Given the description of an element on the screen output the (x, y) to click on. 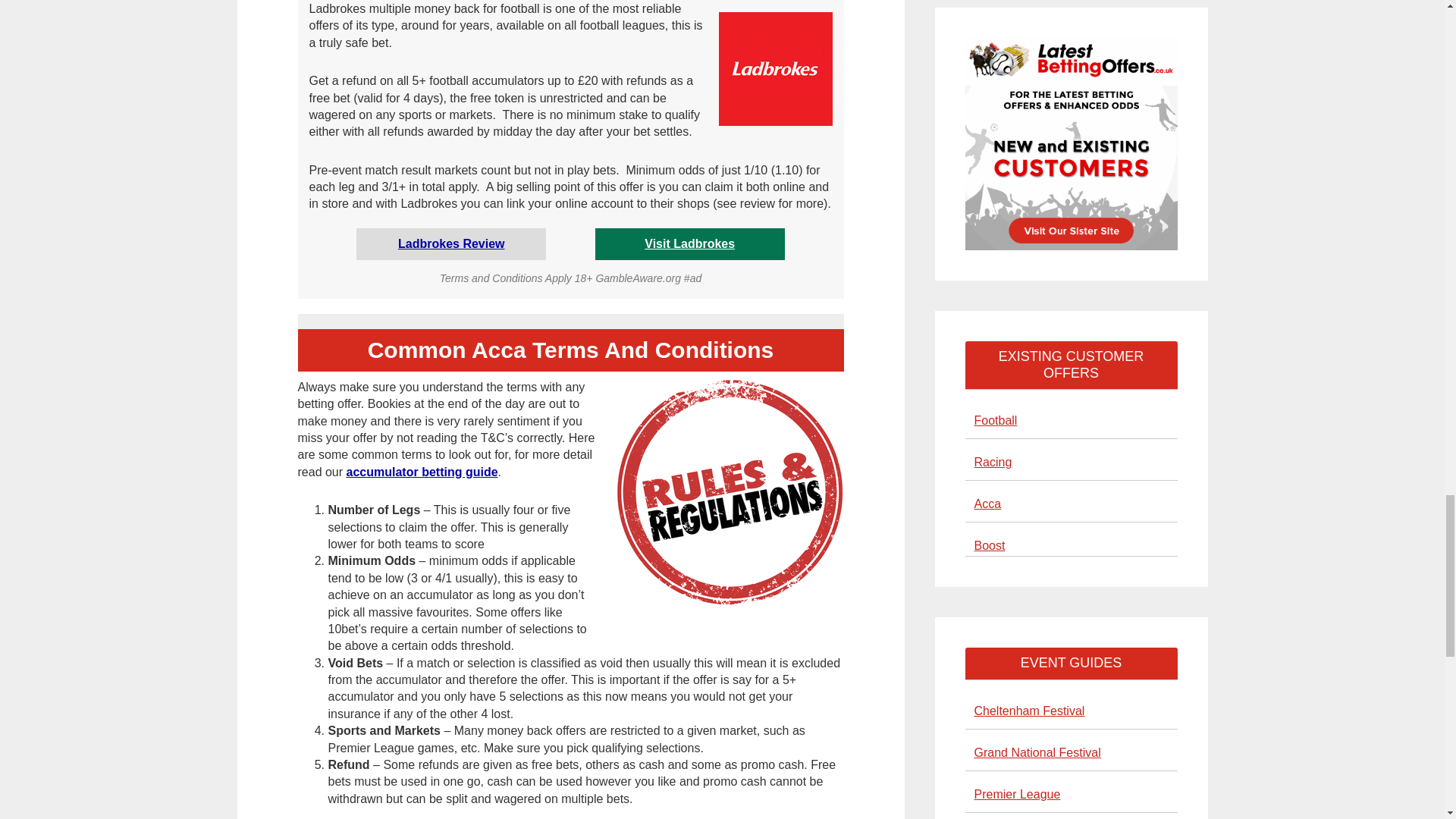
Ladbrokes Review (451, 243)
accumulator betting guide (421, 472)
Visit Ladbrokes (690, 243)
Ladbrokes Review (451, 243)
